Given the description of an element on the screen output the (x, y) to click on. 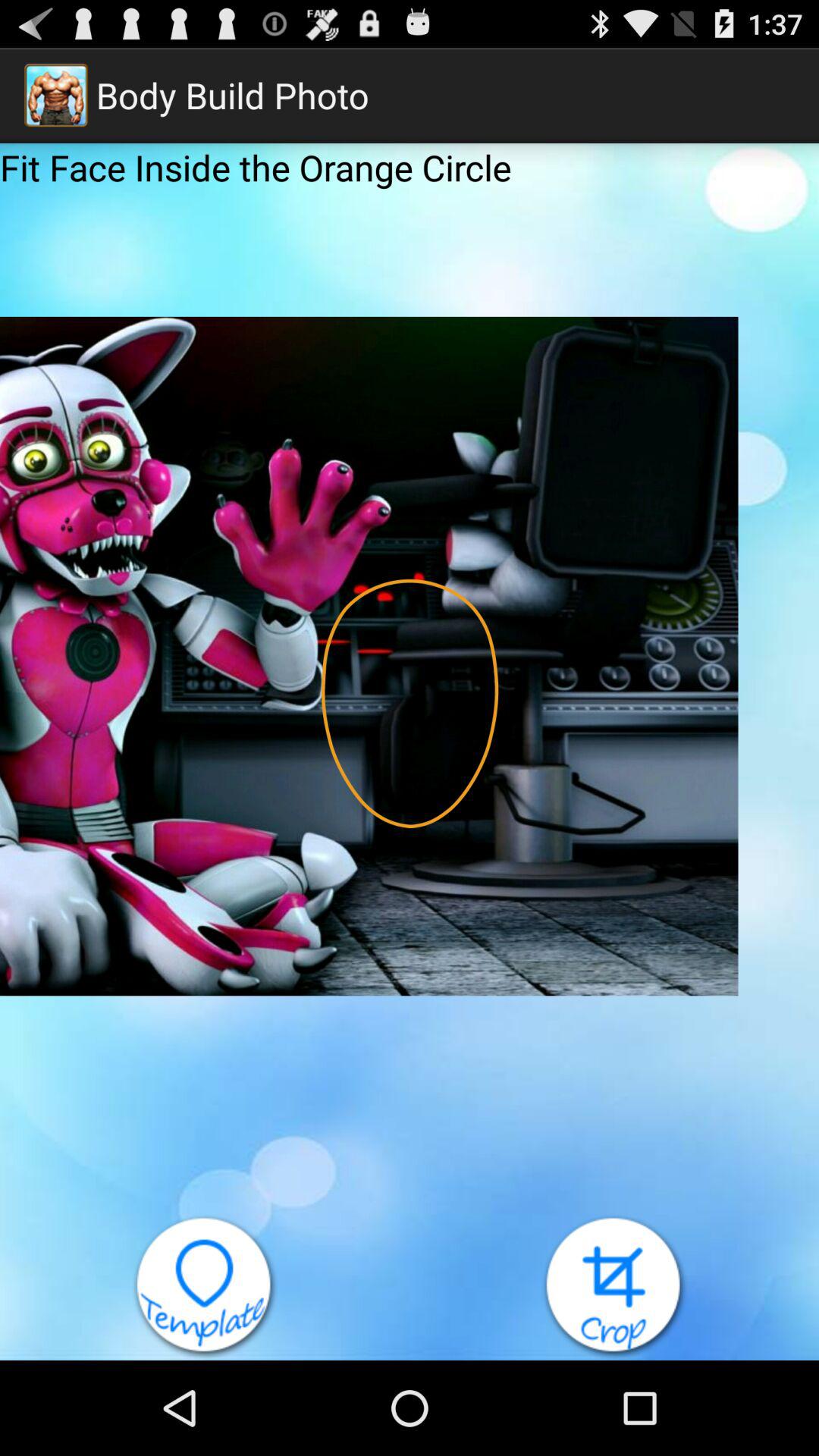
open template (204, 1287)
